Given the description of an element on the screen output the (x, y) to click on. 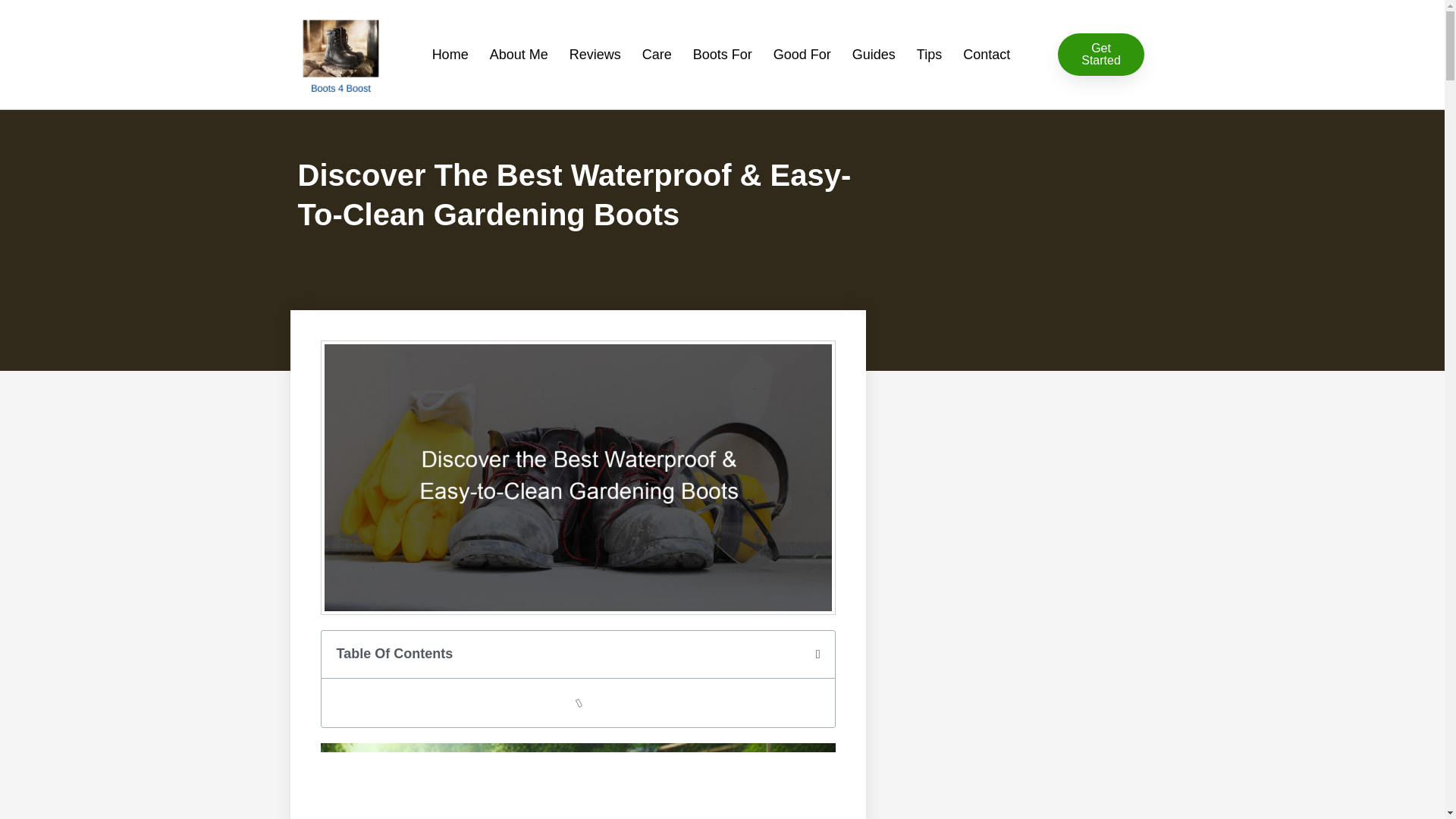
Care (656, 54)
Guides (873, 54)
Get Started (1100, 54)
Good For (801, 54)
Contact (986, 54)
Boots For (722, 54)
Home (450, 54)
About Me (519, 54)
Tips (928, 54)
Reviews (595, 54)
